Given the description of an element on the screen output the (x, y) to click on. 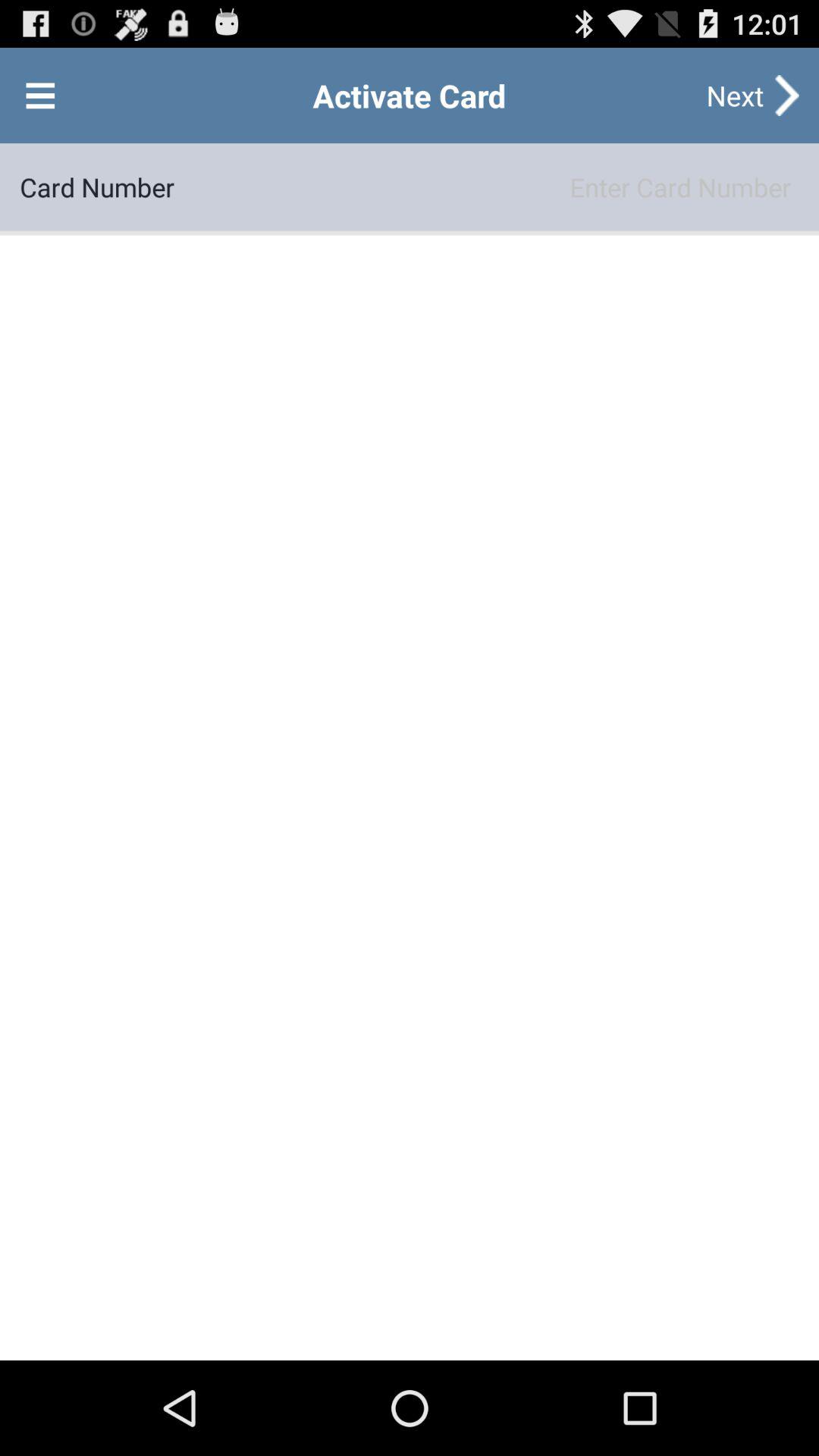
add card number (486, 186)
